Given the description of an element on the screen output the (x, y) to click on. 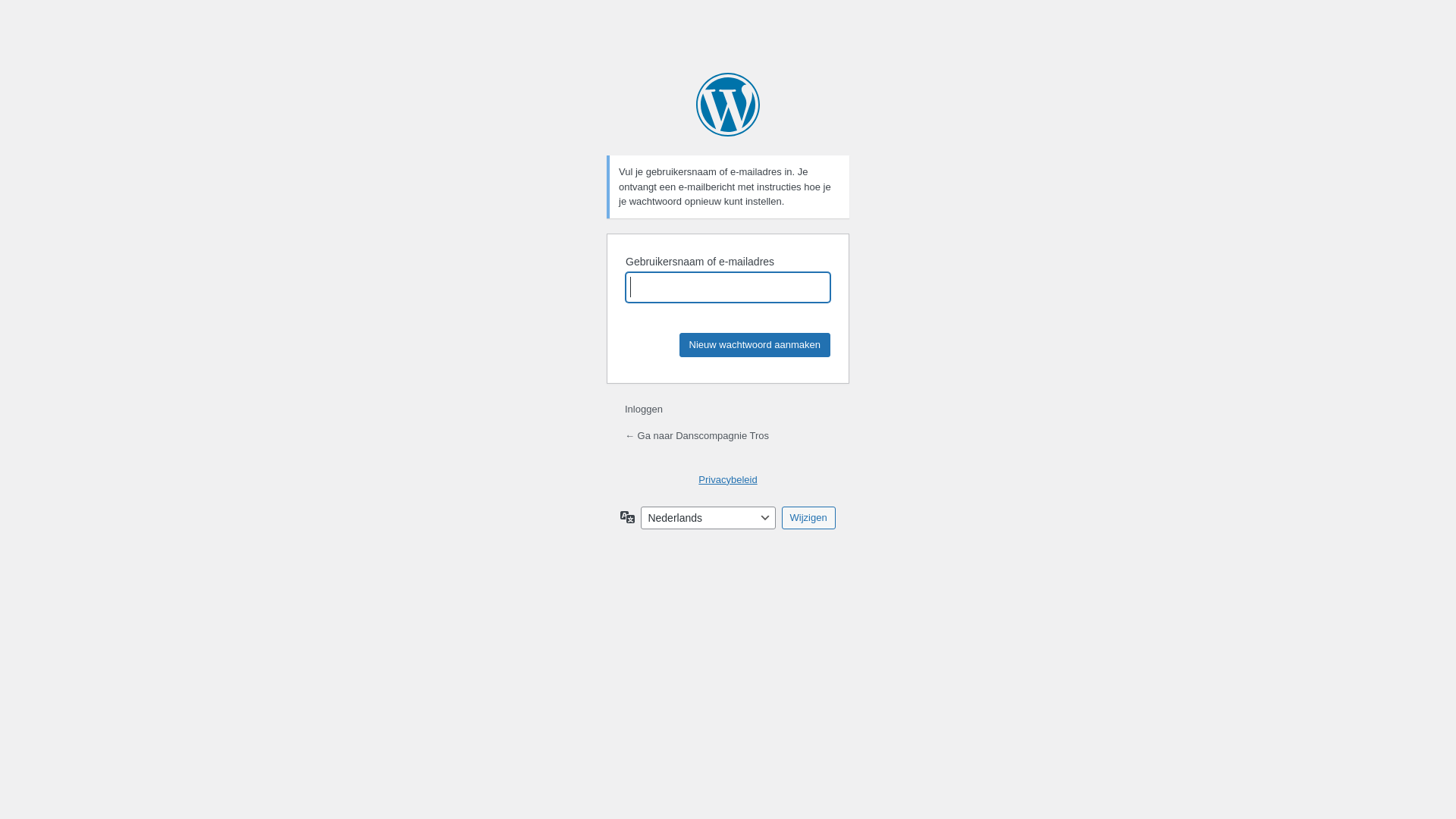
Nieuw wachtwoord aanmaken Element type: text (754, 344)
Inloggen Element type: text (643, 408)
Privacybeleid Element type: text (727, 478)
Mogelijk gemaakt door WordPress Element type: text (727, 104)
Wijzigen Element type: text (808, 517)
